Given the description of an element on the screen output the (x, y) to click on. 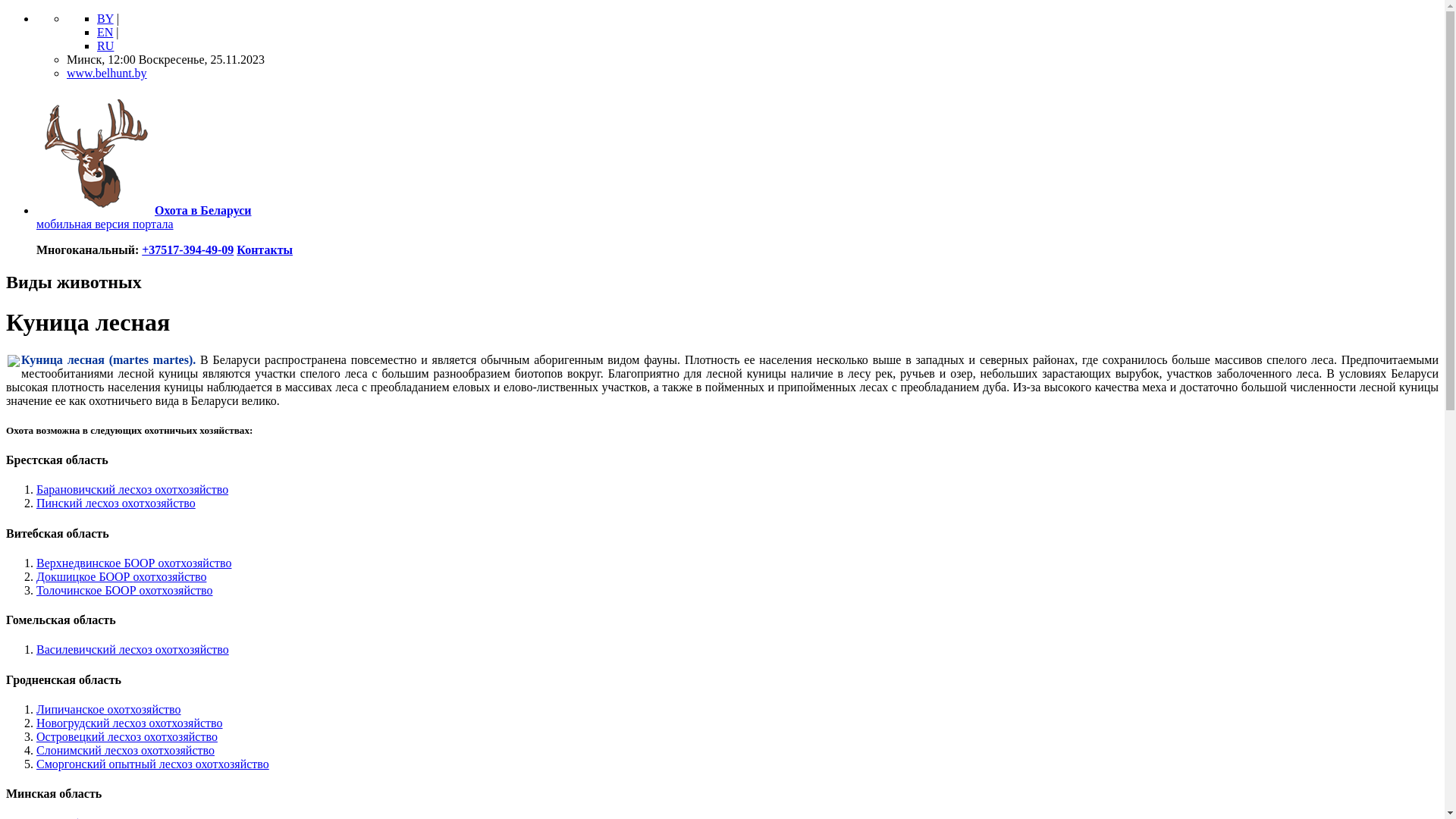
www.belhunt.by Element type: text (106, 72)
BY Element type: text (105, 18)
EN Element type: text (104, 31)
RU Element type: text (105, 45)
+37517-394-49-09 Element type: text (187, 249)
